Given the description of an element on the screen output the (x, y) to click on. 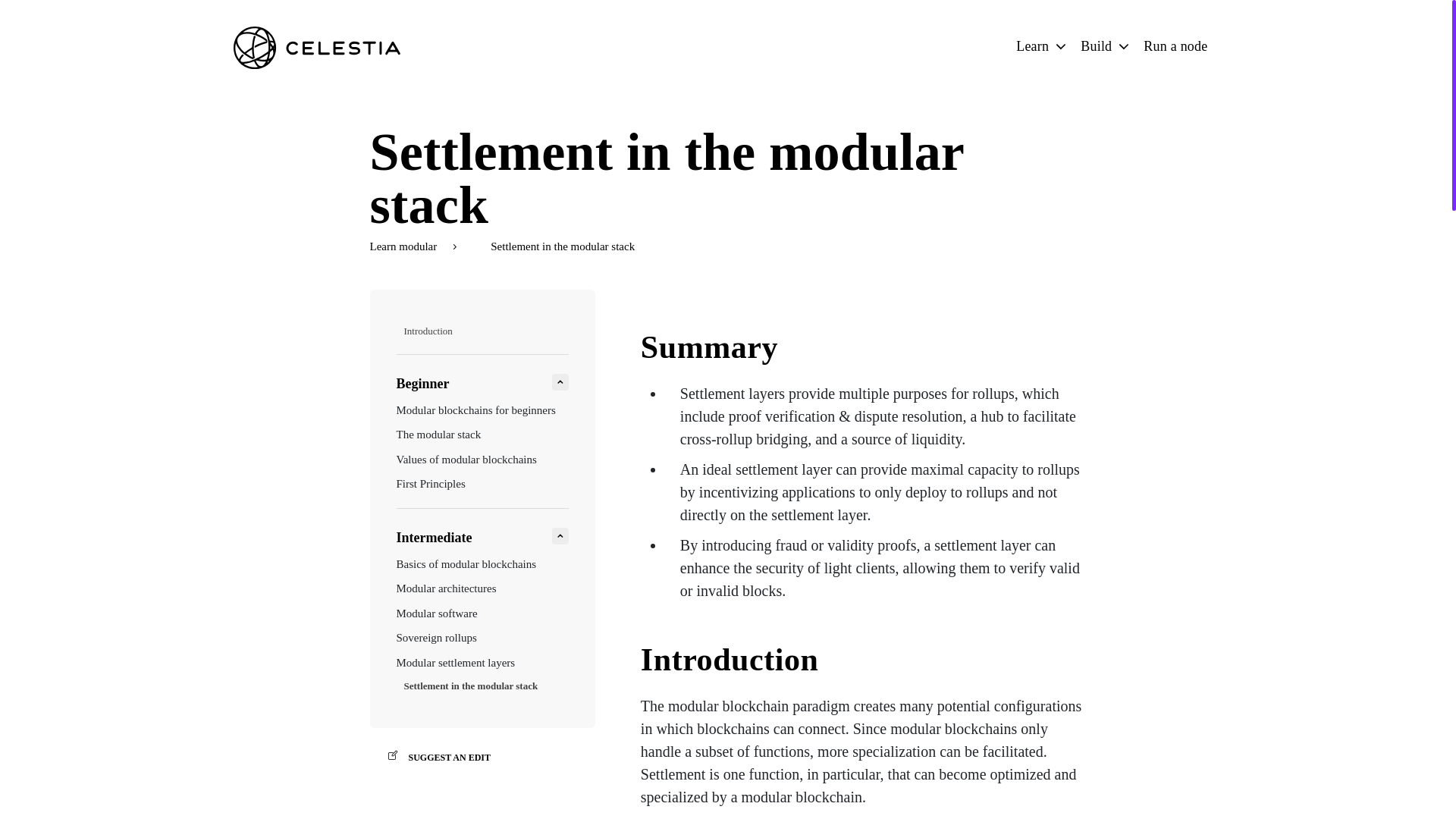
Learn modular (421, 246)
Introduction (427, 330)
Settlement in the modular stack (470, 685)
SUGGEST AN EDIT (482, 757)
Run a node (1174, 46)
